Given the description of an element on the screen output the (x, y) to click on. 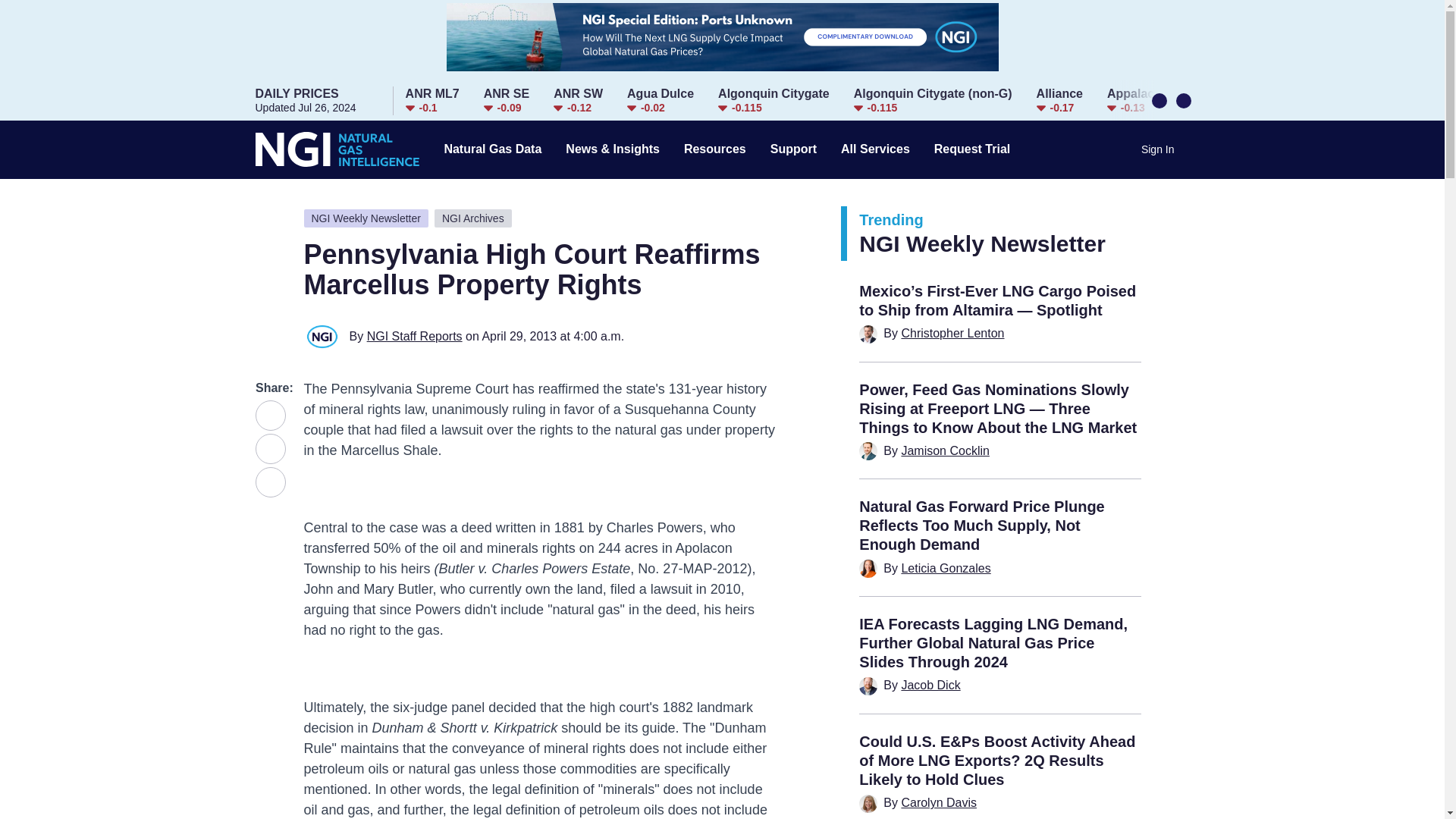
Opens a widget where you can chat to one of our agents (577, 100)
